Given the description of an element on the screen output the (x, y) to click on. 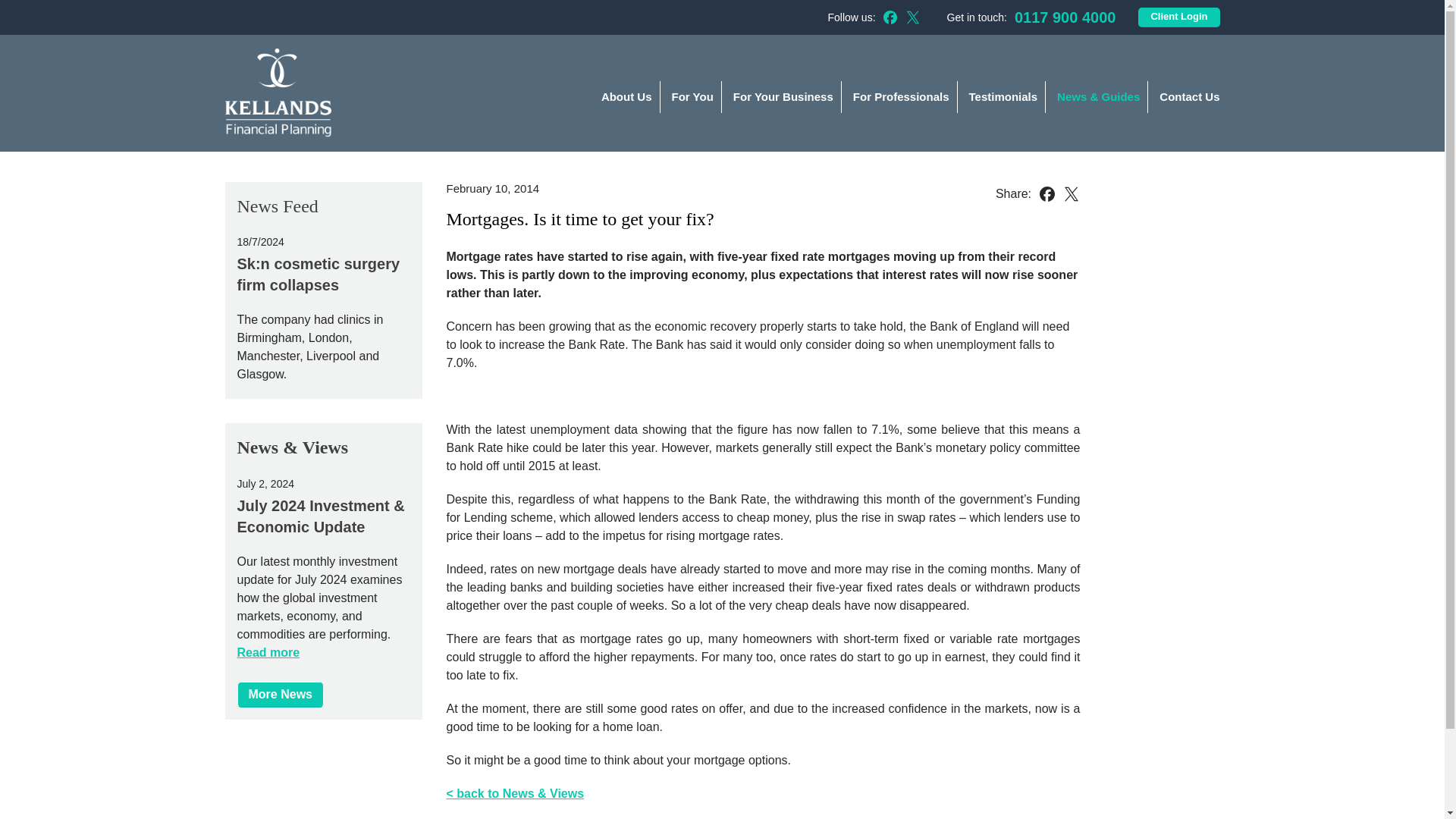
About Us (624, 97)
For You (690, 97)
For Professionals (898, 97)
For Your Business (781, 97)
0117 900 4000 (1064, 17)
Client Login (1179, 17)
